Given the description of an element on the screen output the (x, y) to click on. 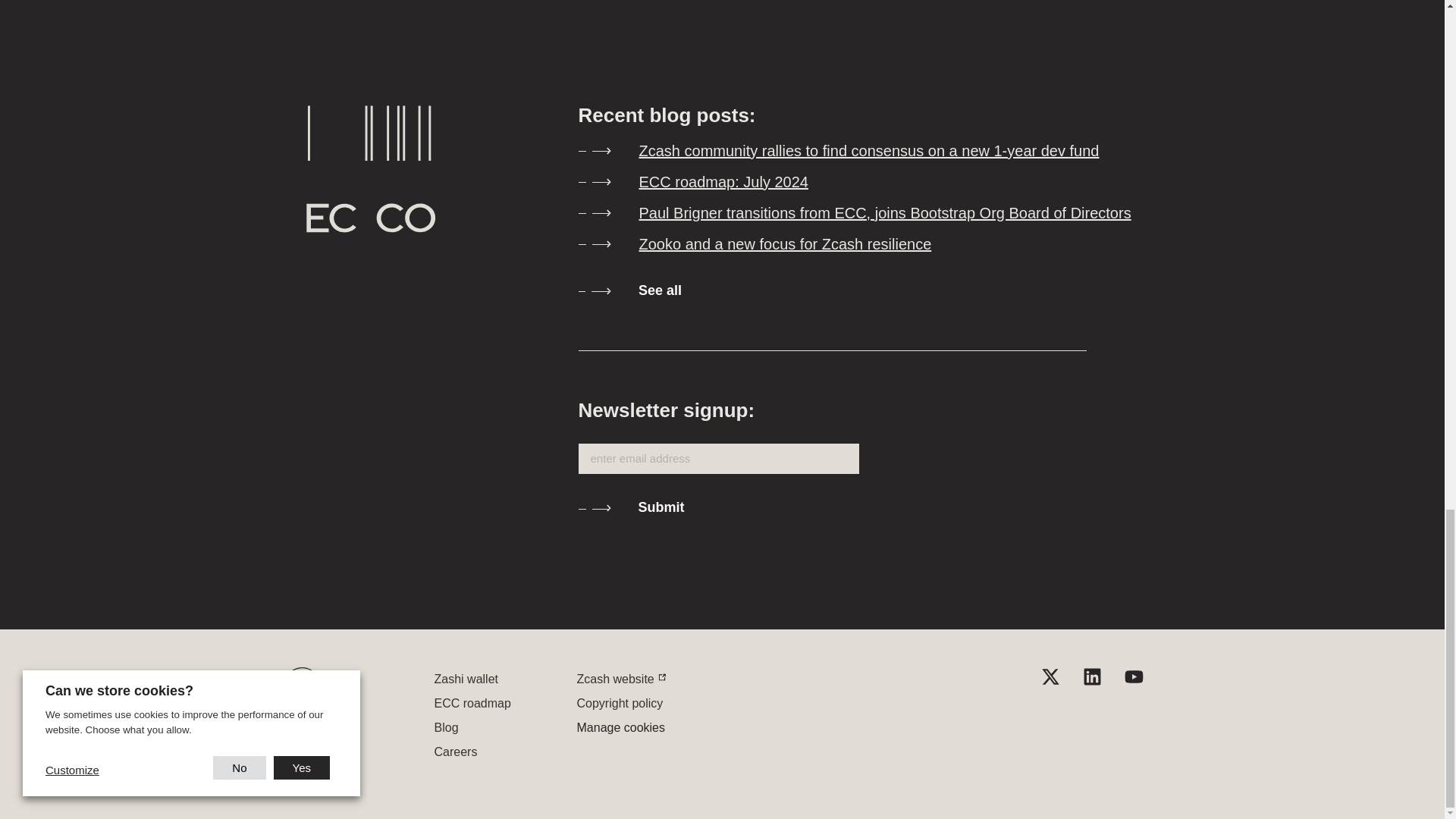
Copyright policy (619, 702)
Zcash website (614, 677)
Manage cookies (620, 726)
Submit (639, 508)
Careers (455, 750)
ECC roadmap: July 2024 (862, 181)
Blog (445, 726)
See all (862, 290)
